Given the description of an element on the screen output the (x, y) to click on. 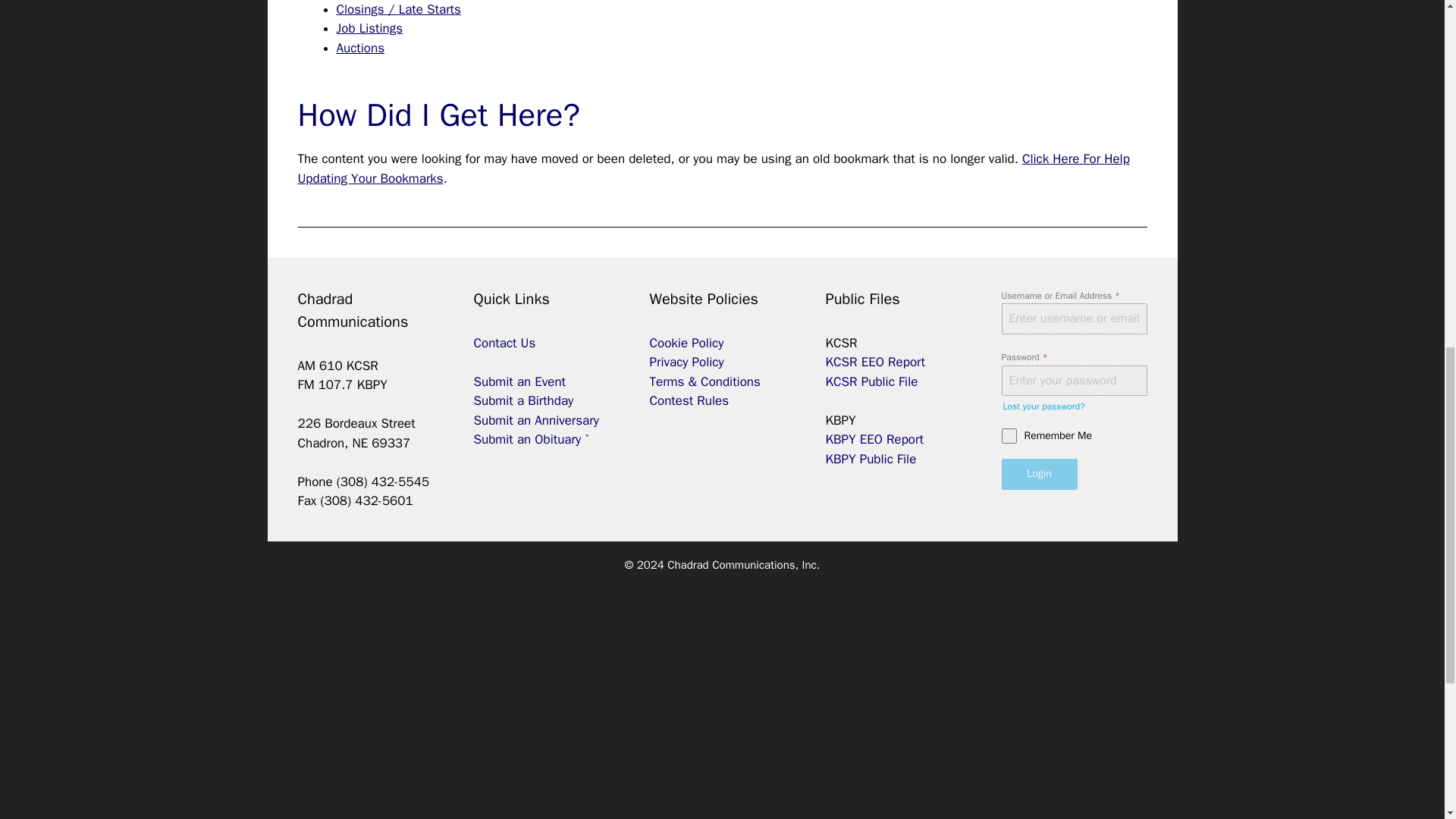
Remember Me (1074, 435)
Lost Password (1043, 406)
